Given the description of an element on the screen output the (x, y) to click on. 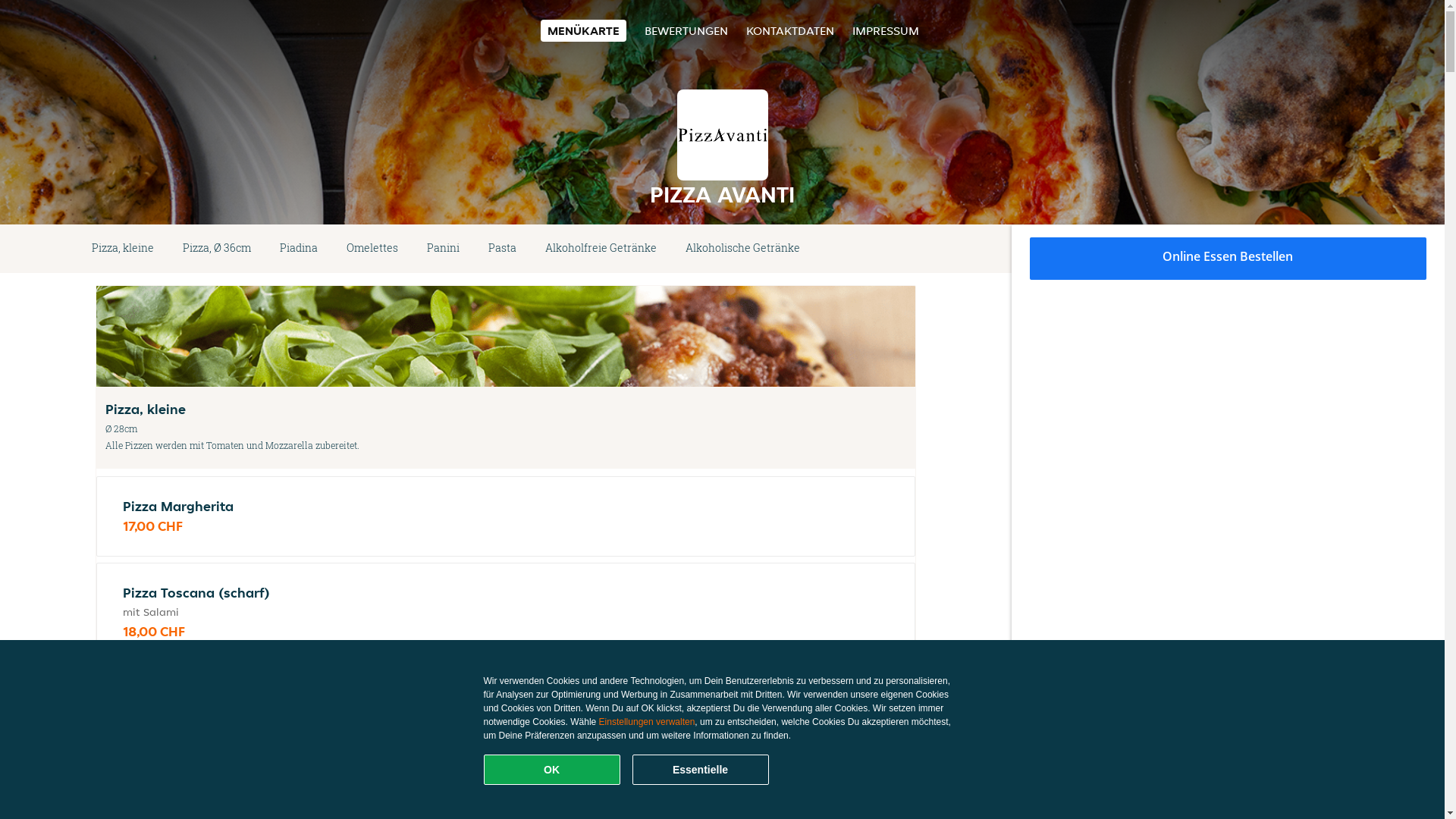
Pizza Toscana (scharf)
mit Salami
18,00 CHF Element type: text (505, 612)
Pasta Element type: text (501, 248)
Panini Element type: text (442, 248)
Online Essen Bestellen Element type: text (1228, 258)
Essentielle Element type: text (700, 769)
Piadina Element type: text (298, 248)
Pizza Margherita
17,00 CHF Element type: text (505, 516)
IMPRESSUM Element type: text (885, 30)
BEWERTUNGEN Element type: text (686, 30)
KONTAKTDATEN Element type: text (790, 30)
Omelettes Element type: text (372, 248)
Pizza, kleine Element type: text (122, 248)
Einstellungen verwalten Element type: text (647, 721)
OK Element type: text (551, 769)
